Given the description of an element on the screen output the (x, y) to click on. 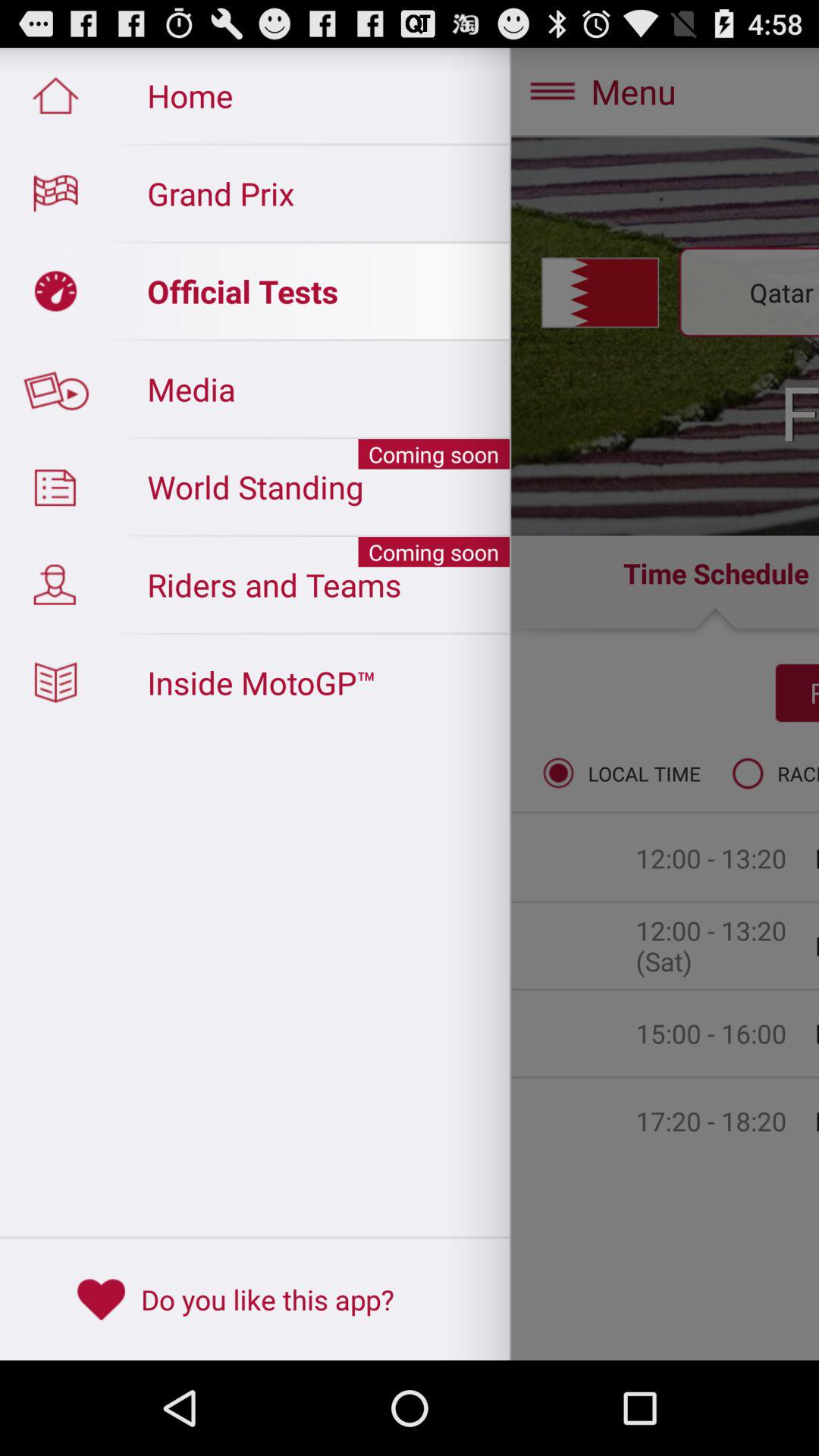
select the text which says qatar (254, 291)
select the symbol which is immediately to the left of qatar (600, 292)
